Given the description of an element on the screen output the (x, y) to click on. 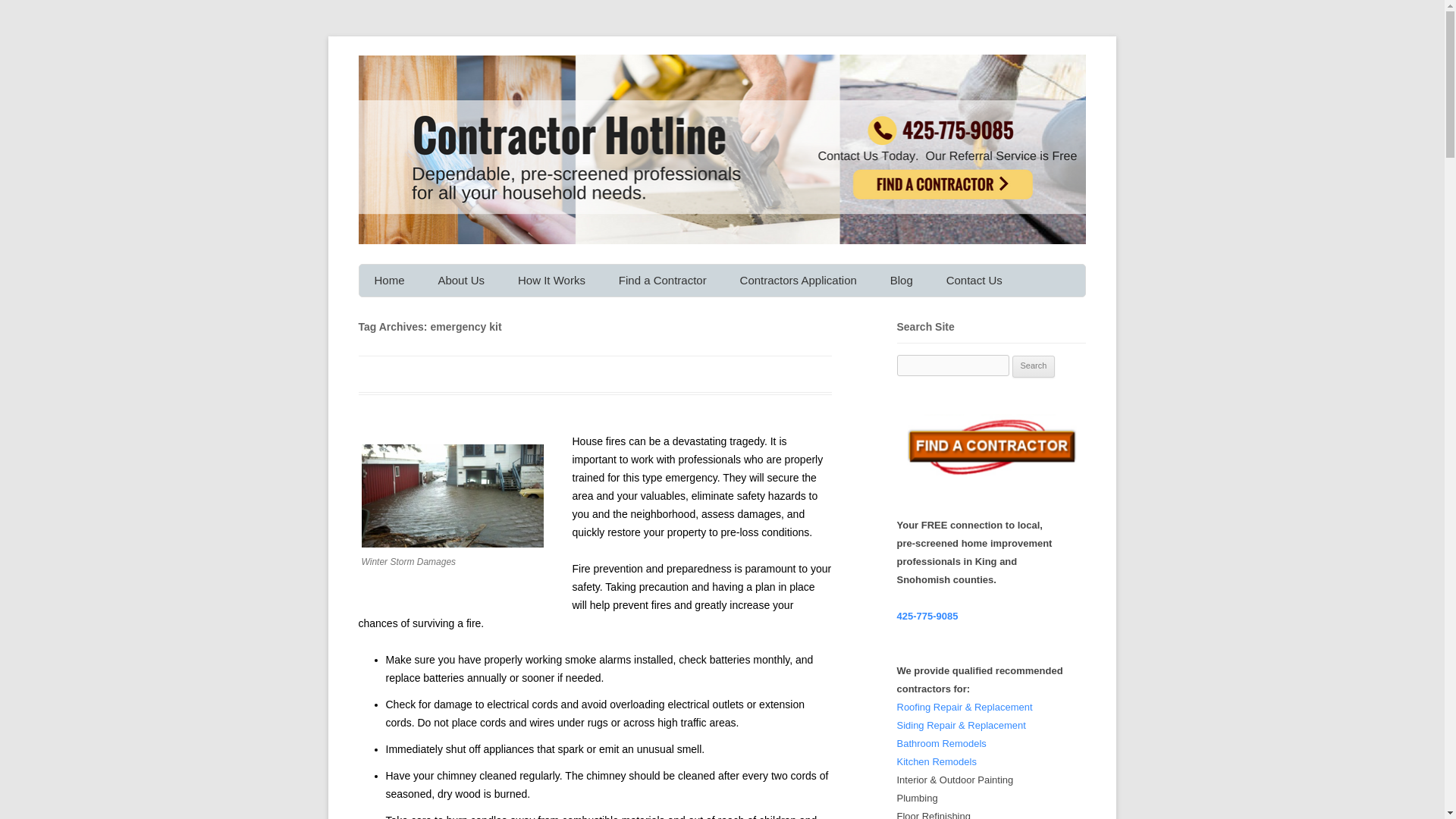
Contact Us (974, 280)
About Us (460, 280)
Contractors Application (798, 280)
Contractor Hotline (444, 72)
Services Provided (577, 315)
Blog (901, 280)
Search (1033, 365)
Customer Testimonials (497, 315)
Refer A Friend (1007, 315)
Home (389, 280)
How It Works (550, 280)
Roofing Contractors (679, 315)
Find a Contractor (663, 280)
